Given the description of an element on the screen output the (x, y) to click on. 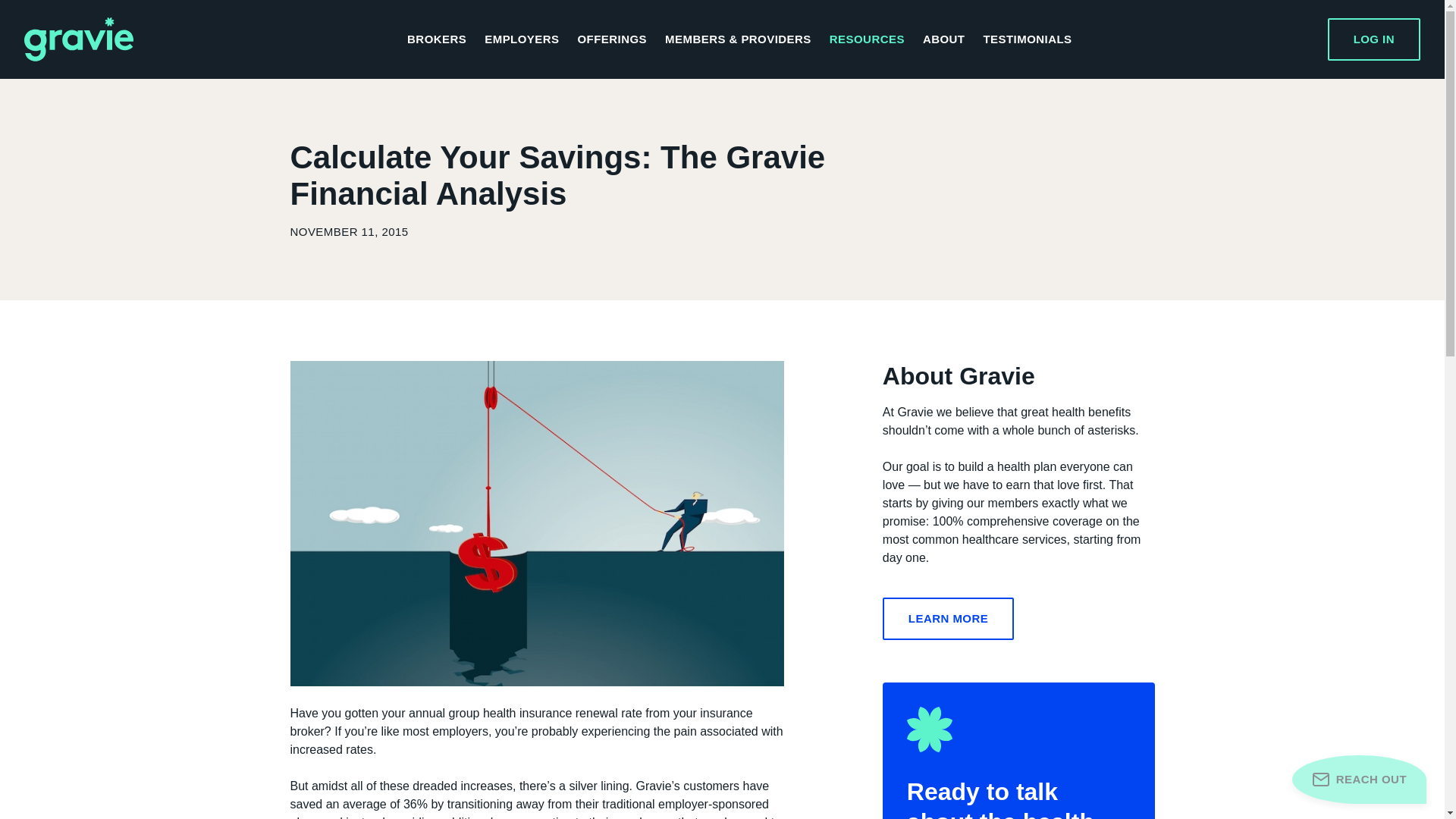
BROKERS (436, 38)
LOG IN (1374, 39)
TESTIMONIALS (1026, 38)
OFFERINGS (611, 38)
ABOUT (944, 38)
LEARN MORE (947, 618)
RESOURCES (866, 38)
EMPLOYERS (521, 38)
